Given the description of an element on the screen output the (x, y) to click on. 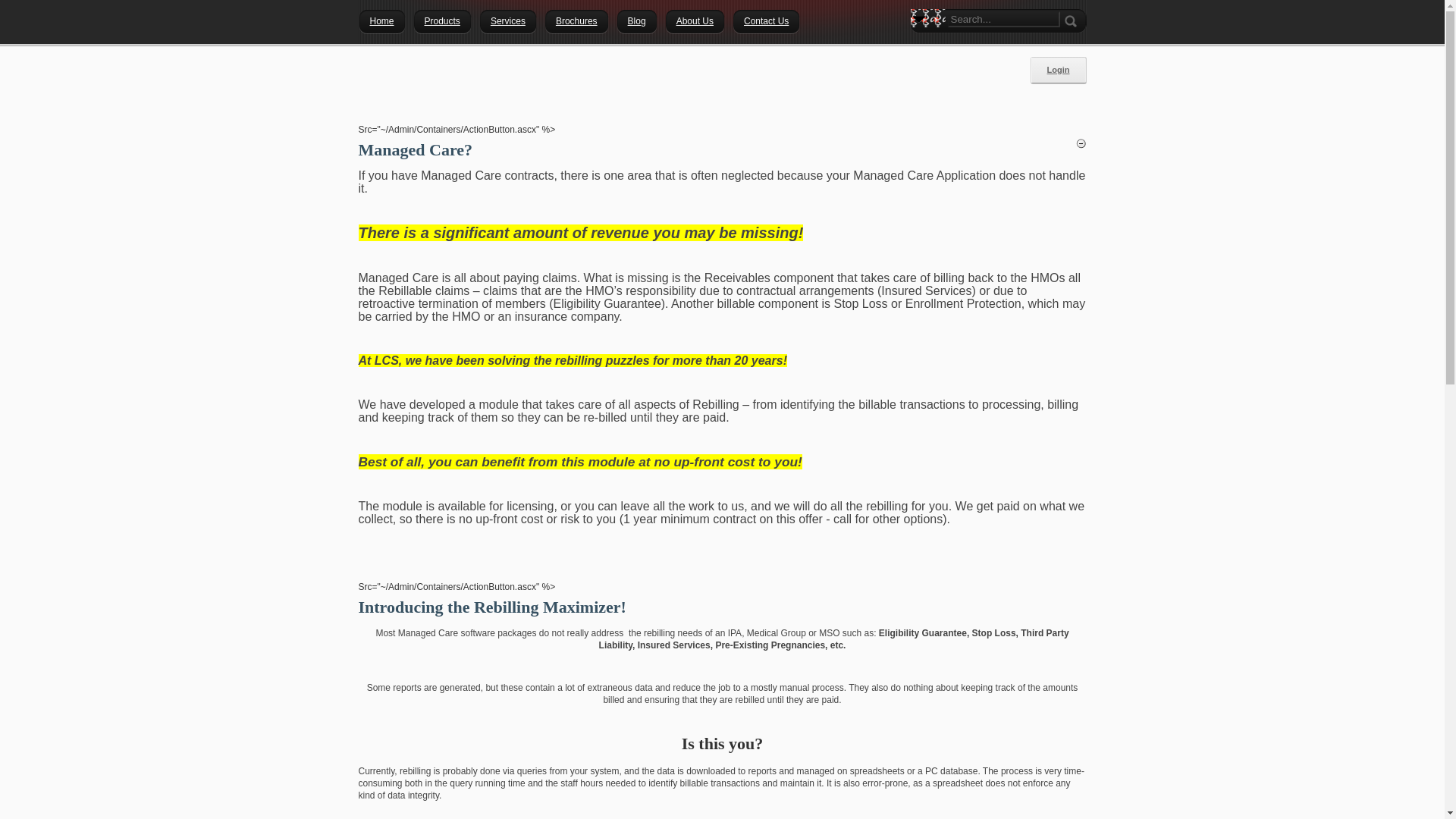
Search (921, 45)
Blog (636, 19)
Services (508, 19)
Login (1058, 69)
Clear search text (1048, 20)
About Us (695, 19)
Select the search type (918, 18)
Minimize (1080, 143)
Products (442, 19)
Home (381, 19)
Brochures (576, 19)
Minimize (1080, 143)
Contact Us (765, 19)
Login (1058, 69)
